Given the description of an element on the screen output the (x, y) to click on. 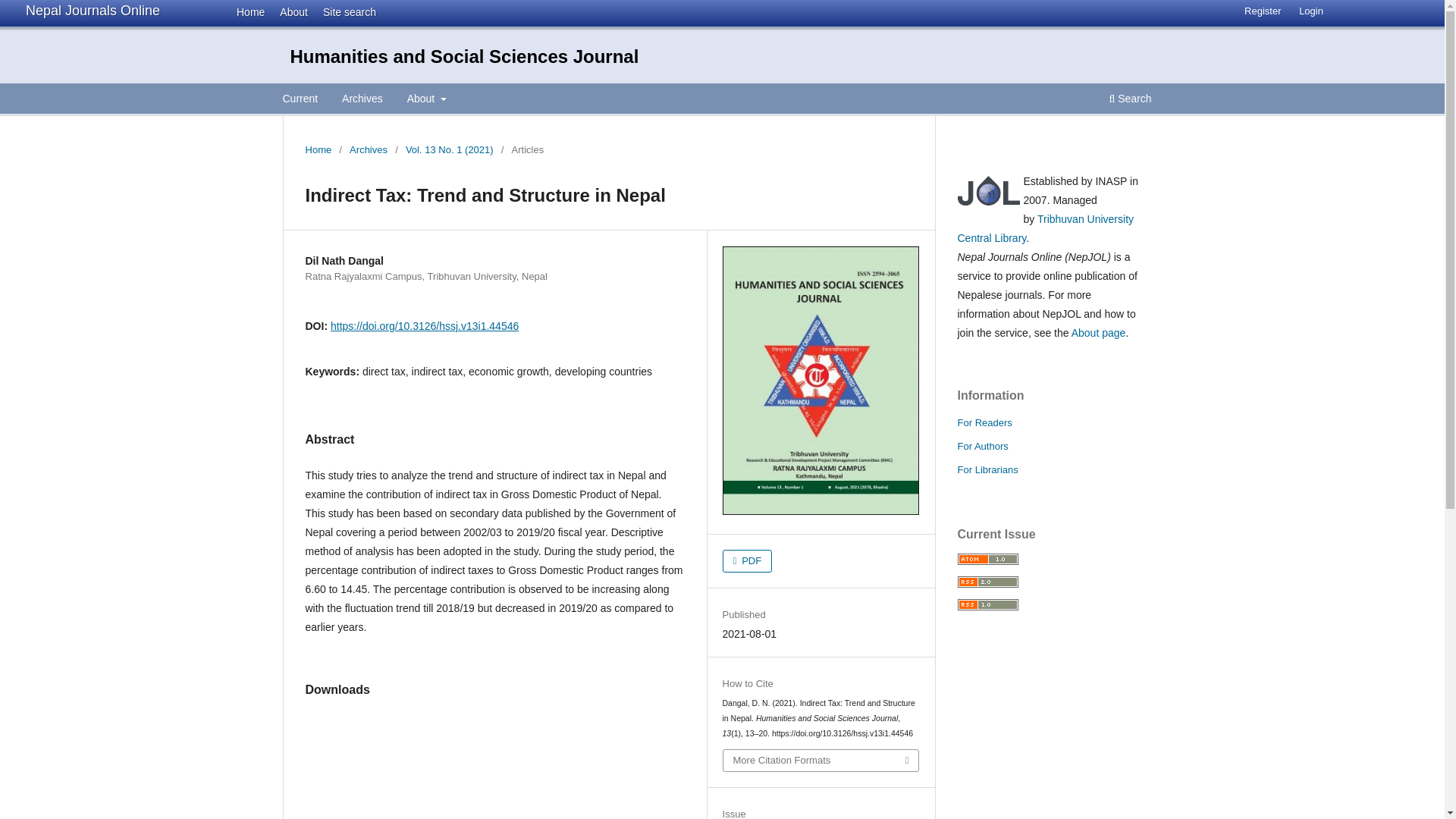
Register (1262, 11)
PDF (747, 560)
Home (317, 150)
Archives (368, 150)
Site search (344, 11)
Archives (362, 99)
Humanities and Social Sciences Journal (464, 56)
About (289, 11)
About (426, 99)
Home (245, 11)
